Given the description of an element on the screen output the (x, y) to click on. 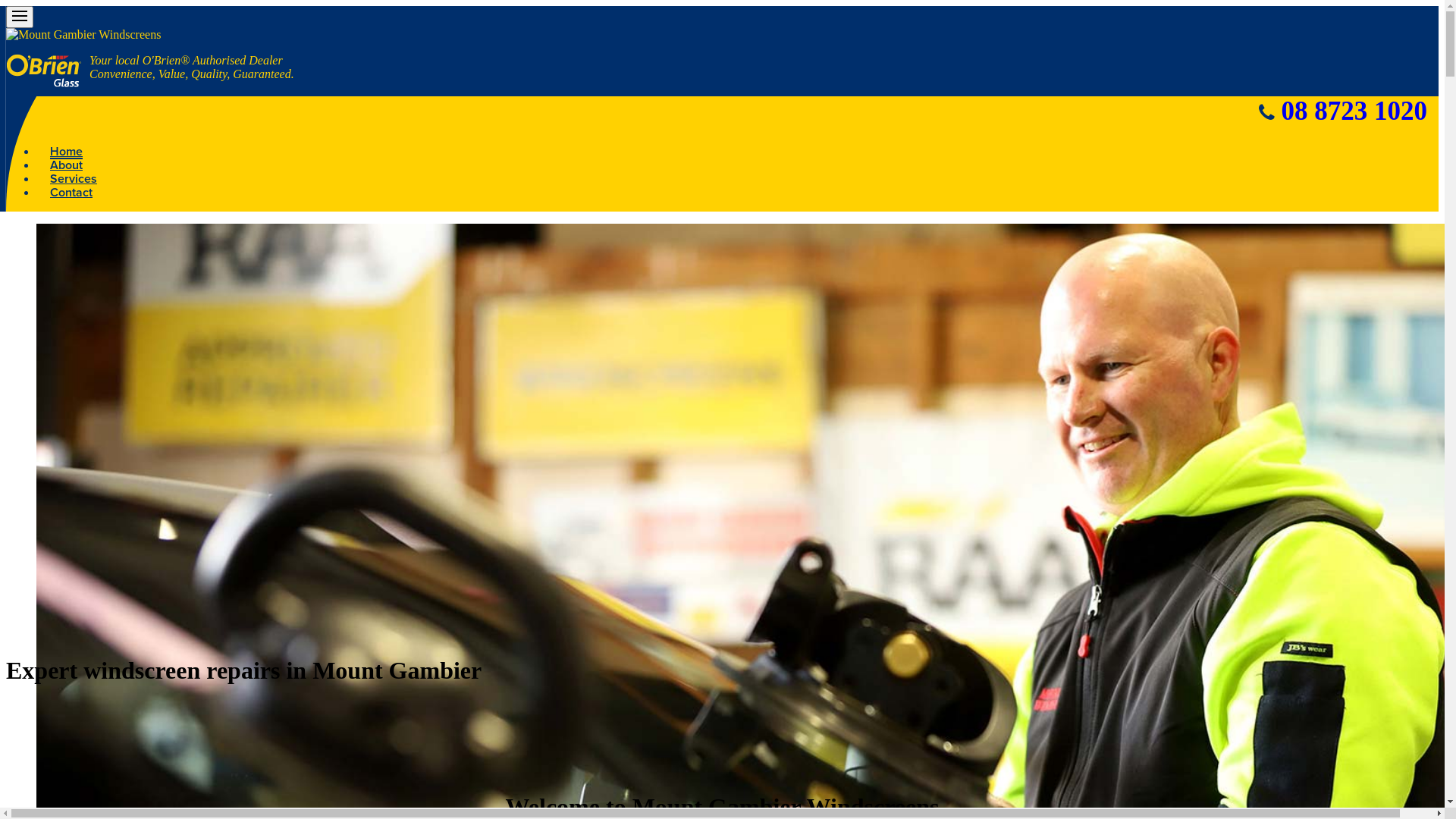
About Element type: text (66, 165)
Services Element type: text (73, 179)
Contact Element type: text (70, 193)
Mount Gambier Windscreens Element type: hover (83, 34)
Home Element type: text (66, 152)
08 8723 1020 Element type: text (1354, 110)
